Given the description of an element on the screen output the (x, y) to click on. 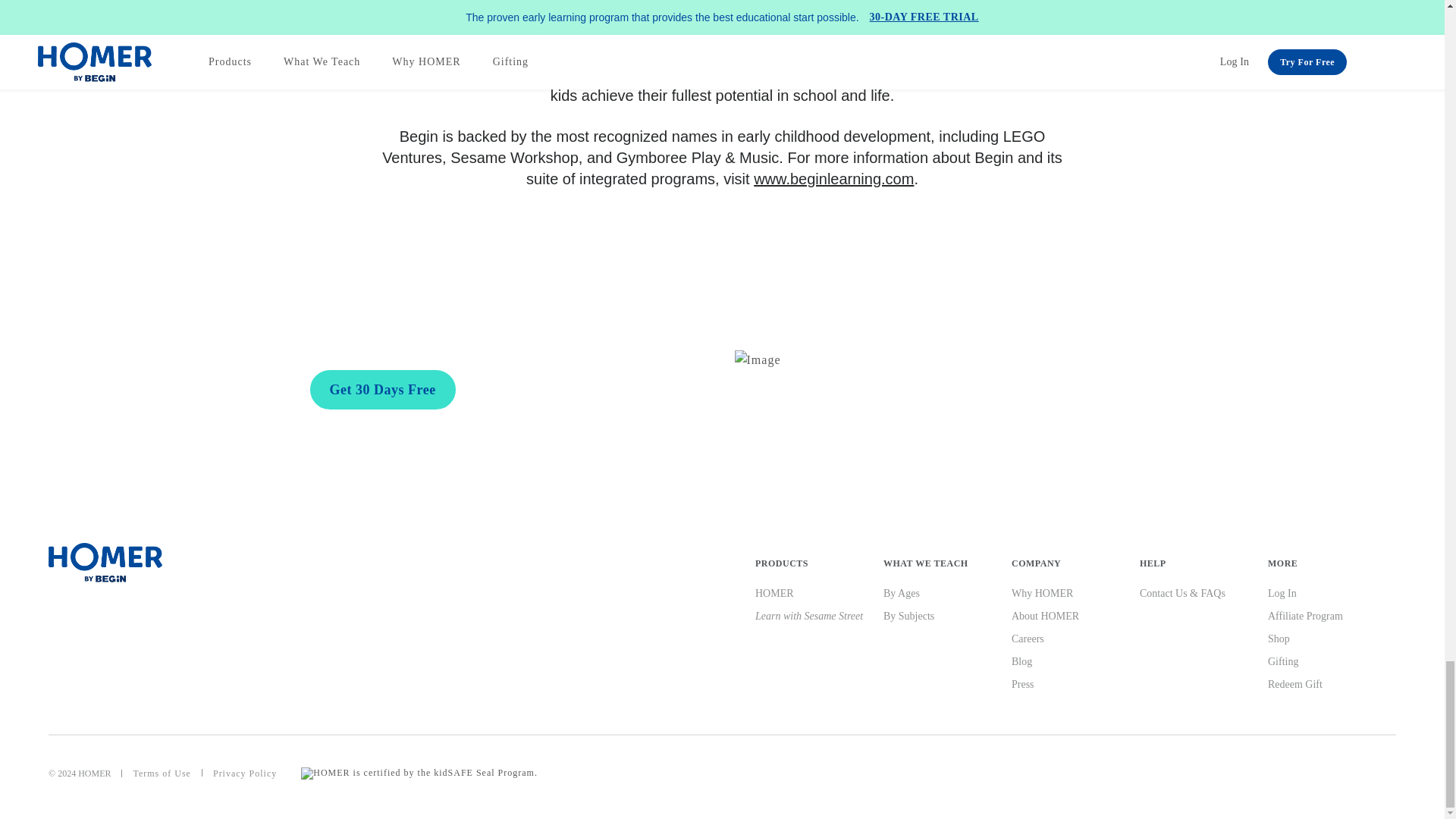
Learn with Sesame Street (809, 615)
Affiliate Program (1305, 615)
Press (1022, 684)
By Subjects (908, 615)
By Ages (901, 593)
Careers (1027, 638)
www.beginlearning.com (834, 178)
Shop (1279, 638)
Log In (1282, 593)
Get 30 Days Free (381, 389)
